Given the description of an element on the screen output the (x, y) to click on. 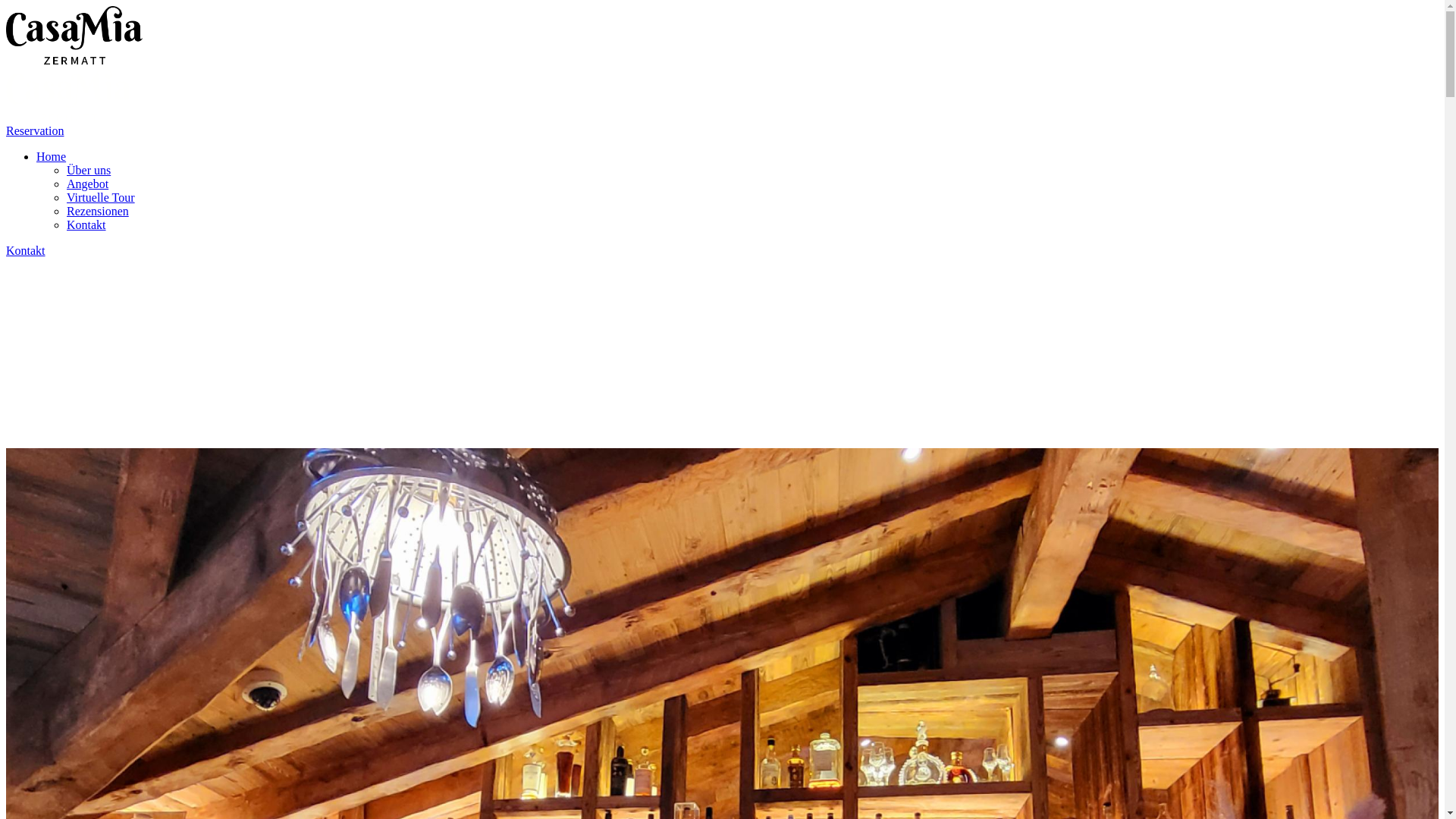
Reservation Element type: text (34, 130)
Virtuelle Tour Element type: text (100, 197)
Home Element type: text (50, 156)
Angebot Element type: text (87, 183)
Rezensionen Element type: text (97, 210)
Kontakt Element type: text (25, 250)
Kontakt Element type: text (86, 224)
